Given the description of an element on the screen output the (x, y) to click on. 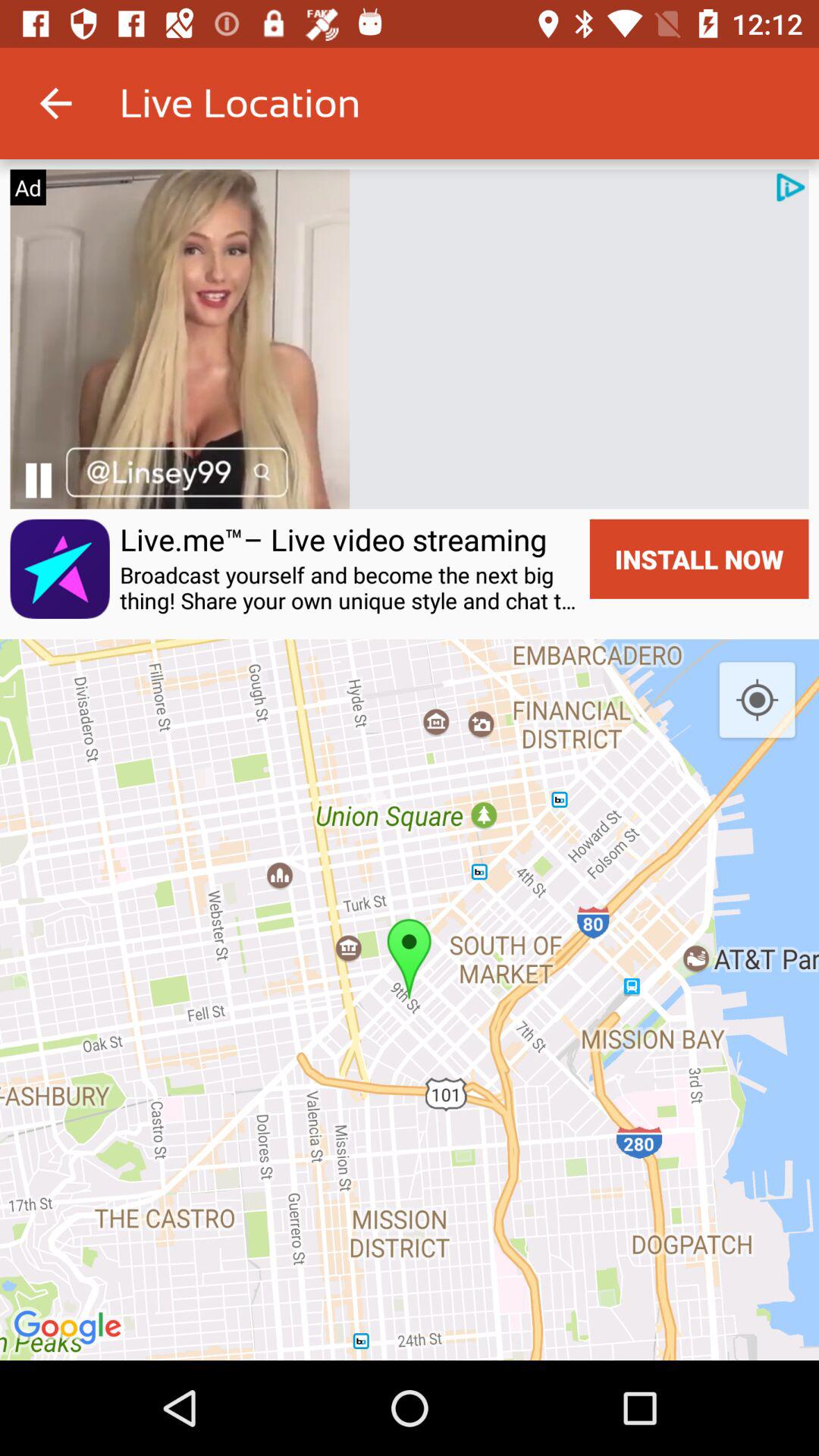
open the item to the left of install now item (349, 587)
